Given the description of an element on the screen output the (x, y) to click on. 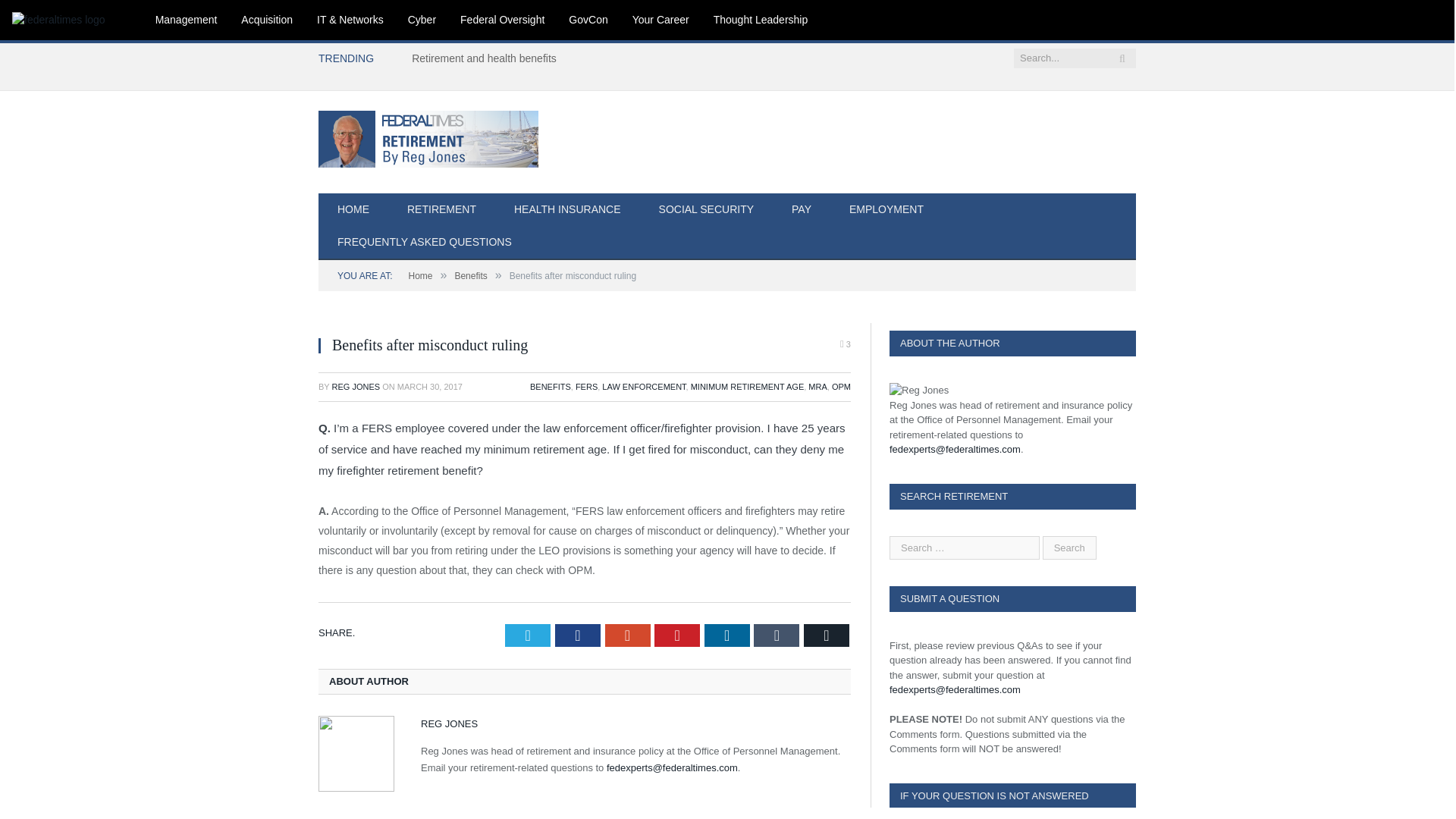
GovCon (588, 19)
BENEFITS (549, 386)
Management (186, 19)
Federal Oversight (502, 19)
Acquisition (266, 19)
LAW ENFORCEMENT (643, 386)
HEALTH INSURANCE (567, 210)
Tweet It (527, 635)
HOME (353, 210)
Share on Facebook (576, 635)
